Given the description of an element on the screen output the (x, y) to click on. 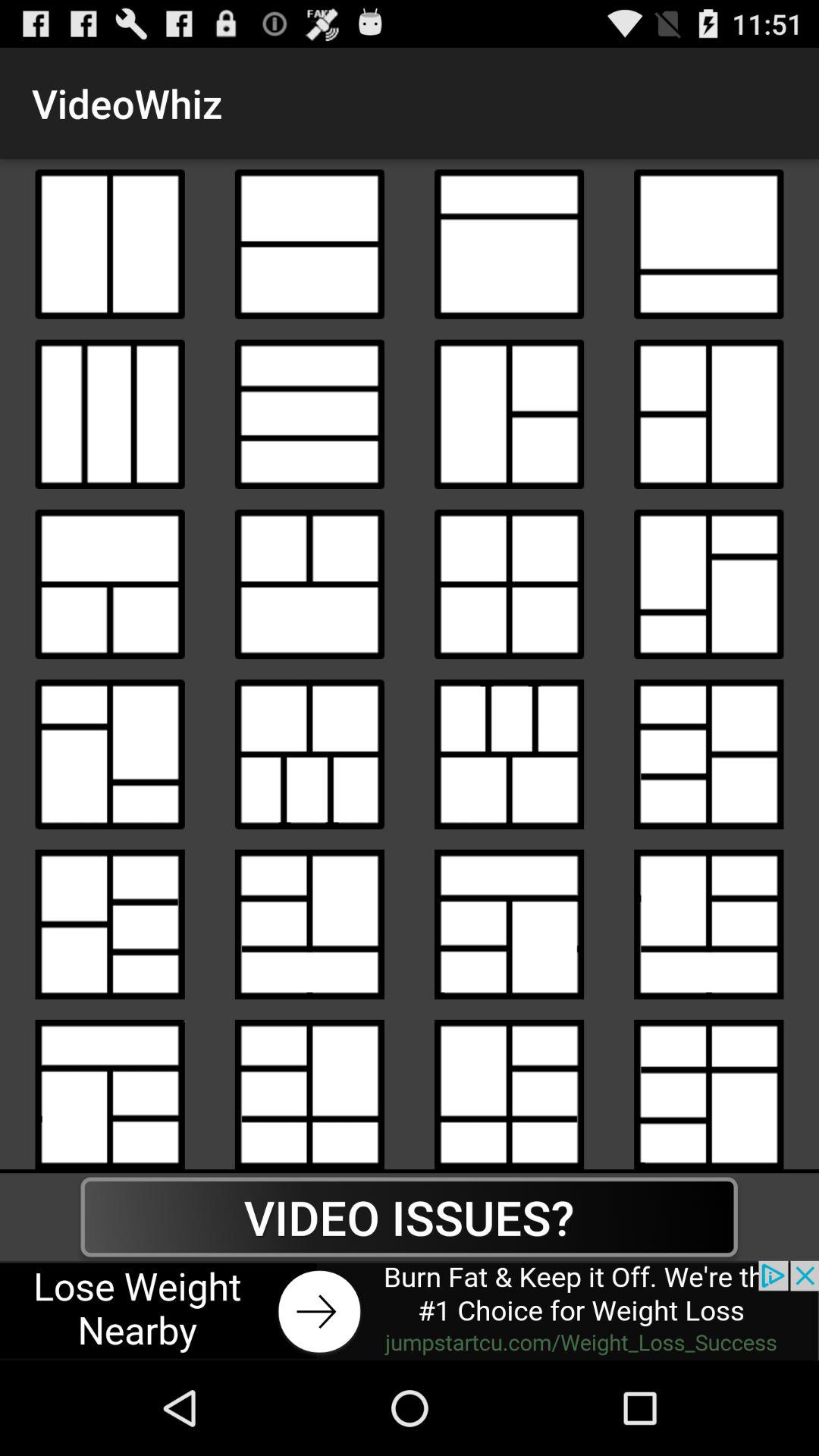
option button (309, 584)
